Given the description of an element on the screen output the (x, y) to click on. 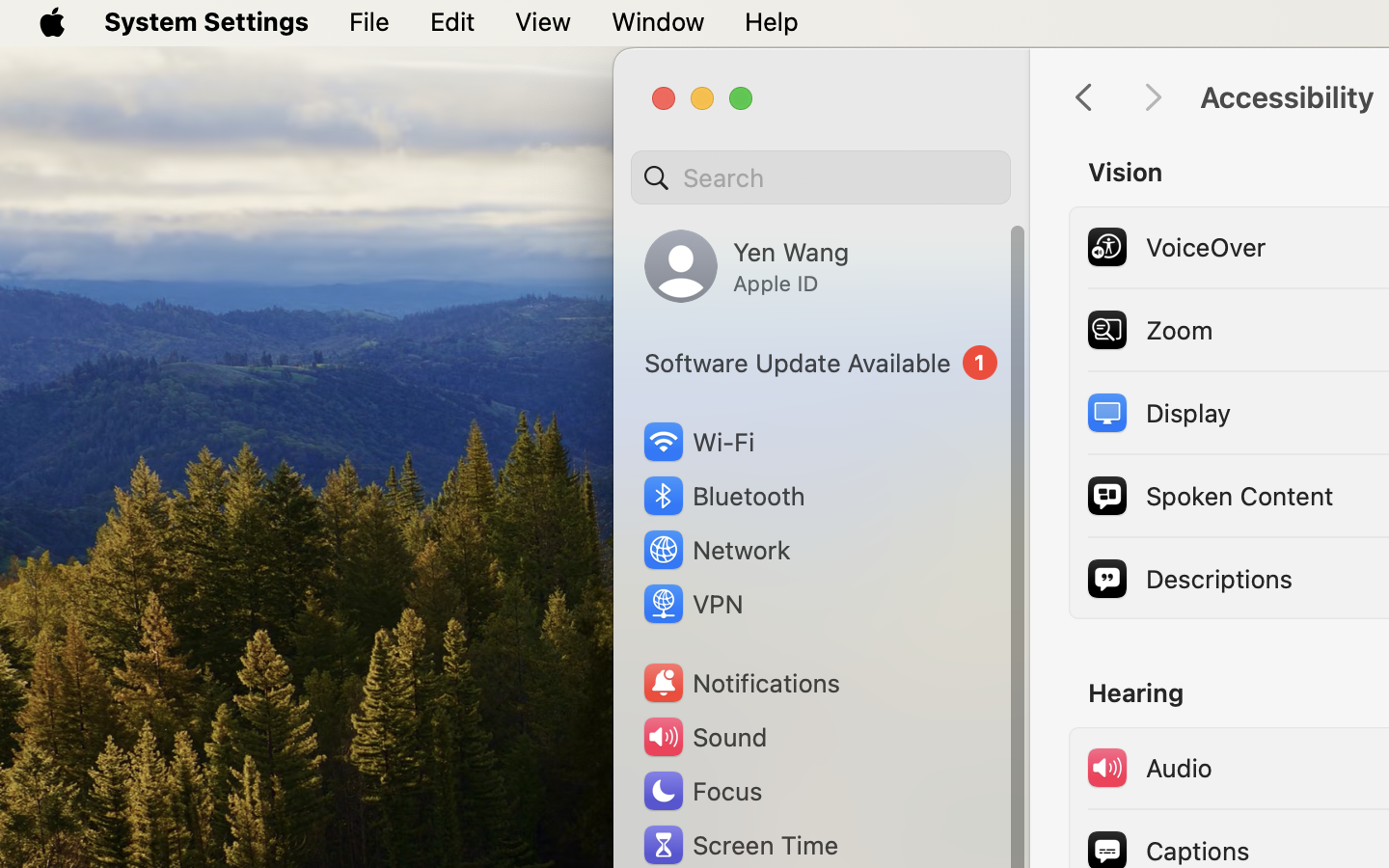
1 Element type: AXStaticText (820, 362)
Bluetooth Element type: AXStaticText (723, 495)
VPN Element type: AXStaticText (691, 603)
Yen Wang, Apple ID Element type: AXStaticText (746, 265)
Notifications Element type: AXStaticText (740, 682)
